Given the description of an element on the screen output the (x, y) to click on. 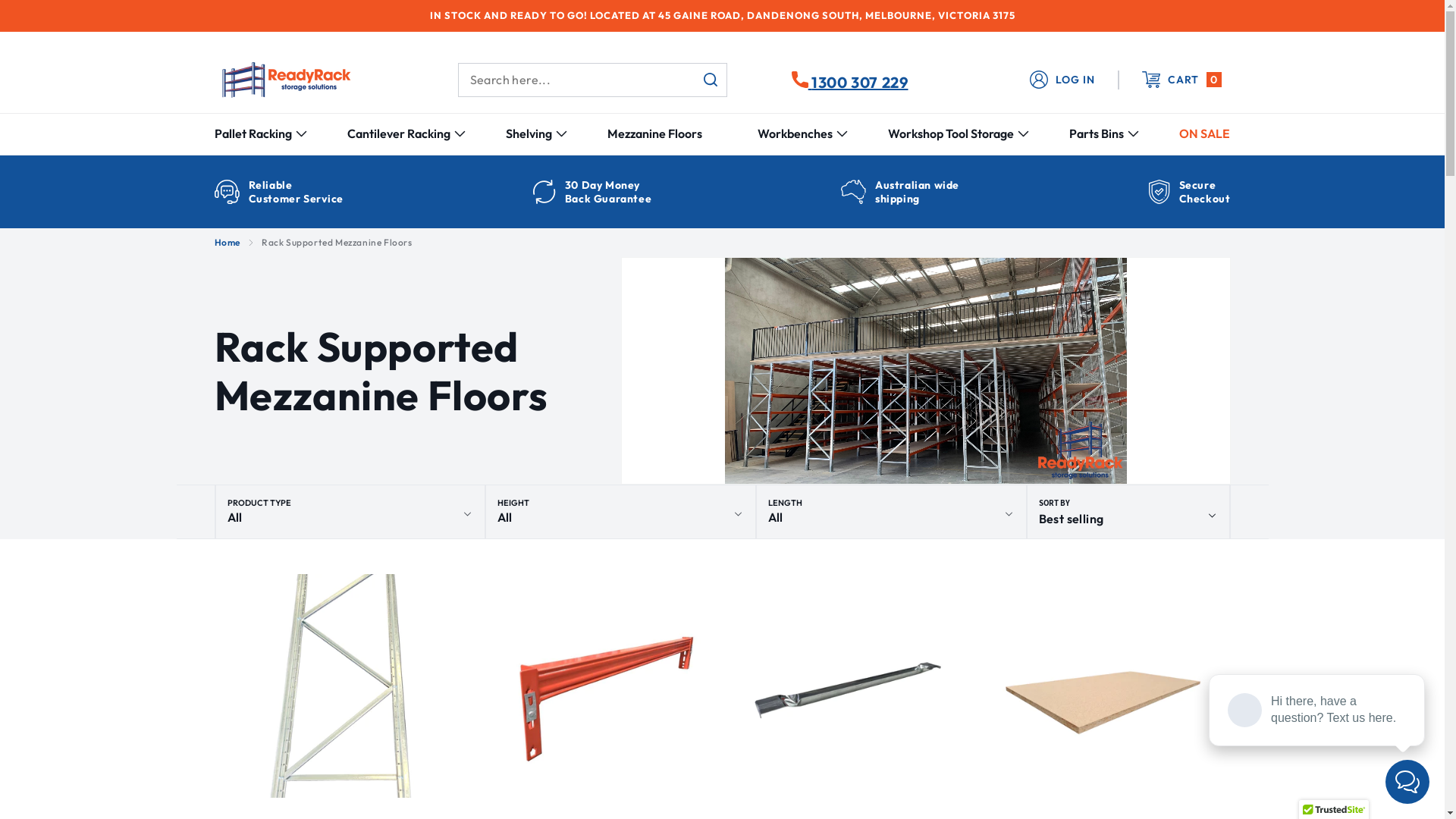
Parts Bins Element type: text (1096, 133)
Workshop Tool Storage Element type: text (950, 133)
ON SALE Element type: text (1204, 133)
1300 307 229 Element type: text (849, 79)
Cantilever Racking Element type: text (398, 133)
CART
0
0 ITEMS Element type: text (1173, 79)
LOG IN Element type: text (1062, 79)
Home Element type: text (226, 242)
Pallet Racking Element type: text (252, 133)
Workbenches Element type: text (794, 133)
Shelving Element type: text (528, 133)
Mezzanine Floors Element type: text (654, 133)
